Given the description of an element on the screen output the (x, y) to click on. 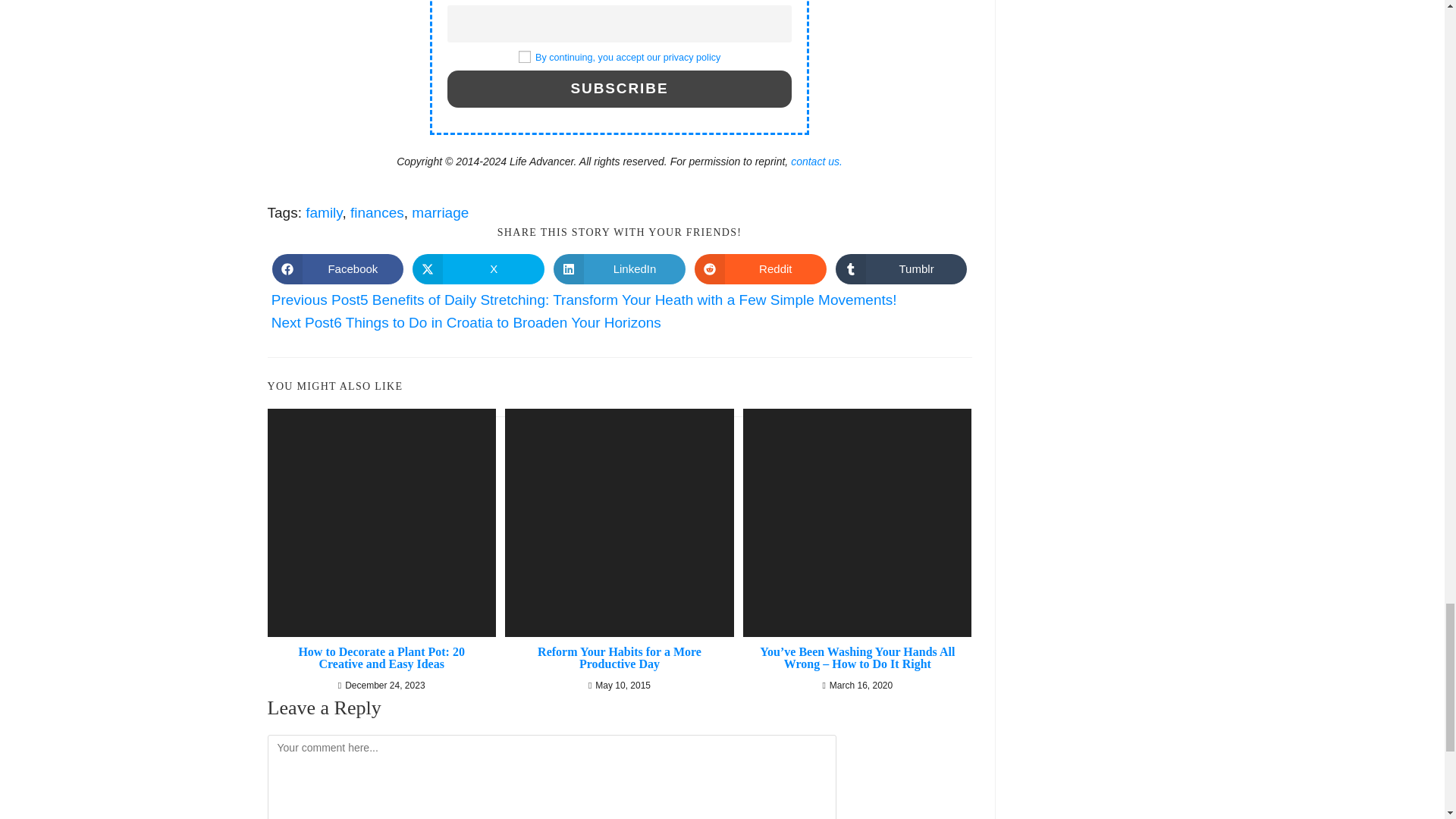
Subscribe (619, 88)
blog policy (627, 57)
on (524, 56)
contact us (816, 161)
